Given the description of an element on the screen output the (x, y) to click on. 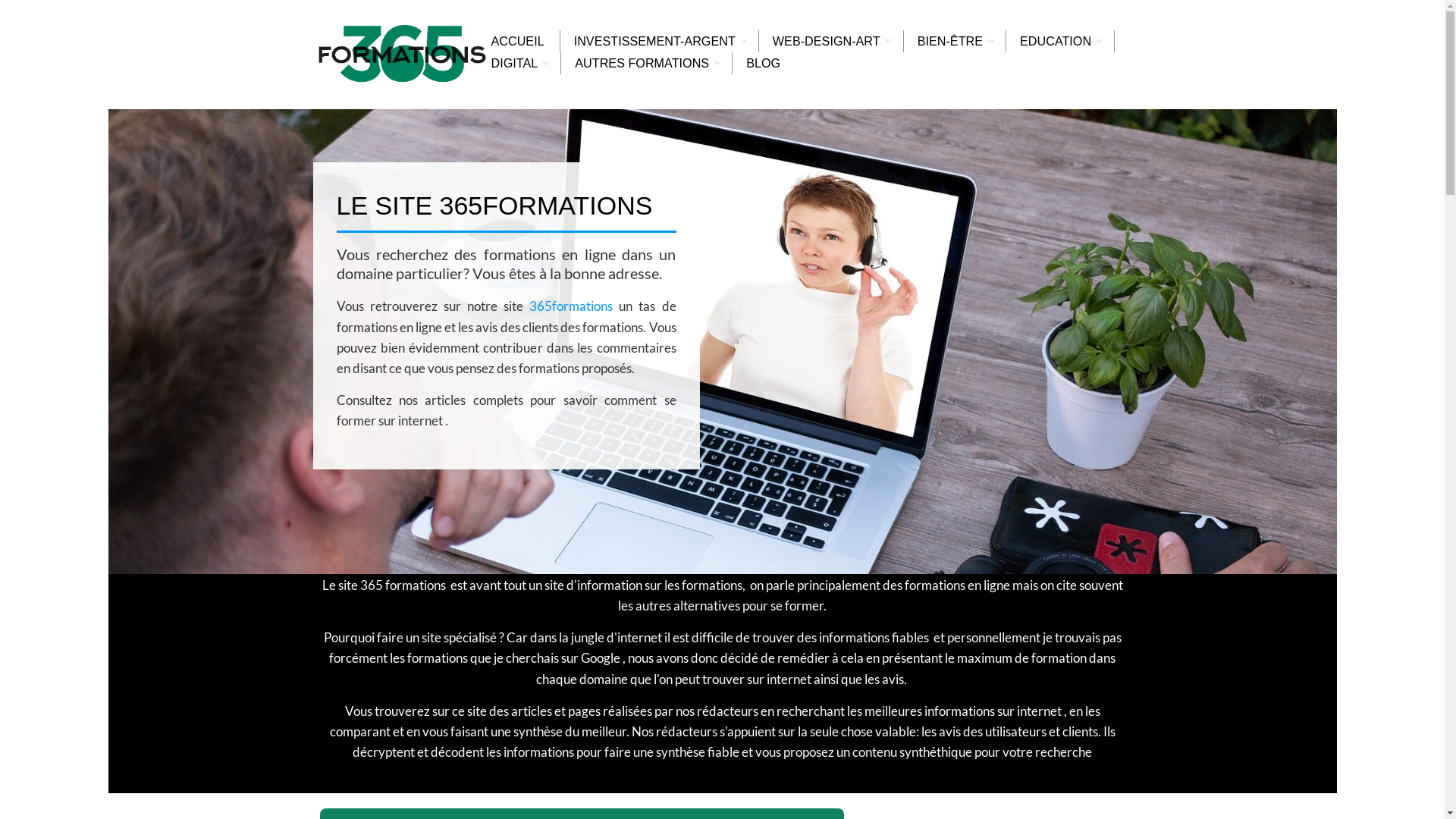
AUTRES FORMATIONS Element type: text (641, 63)
EDUCATION Element type: text (1055, 41)
INVESTISSEMENT-ARGENT Element type: text (654, 41)
DIGITAL Element type: text (514, 63)
ACCUEIL Element type: text (517, 41)
WEB-DESIGN-ART Element type: text (826, 41)
BLOG Element type: text (763, 63)
